Given the description of an element on the screen output the (x, y) to click on. 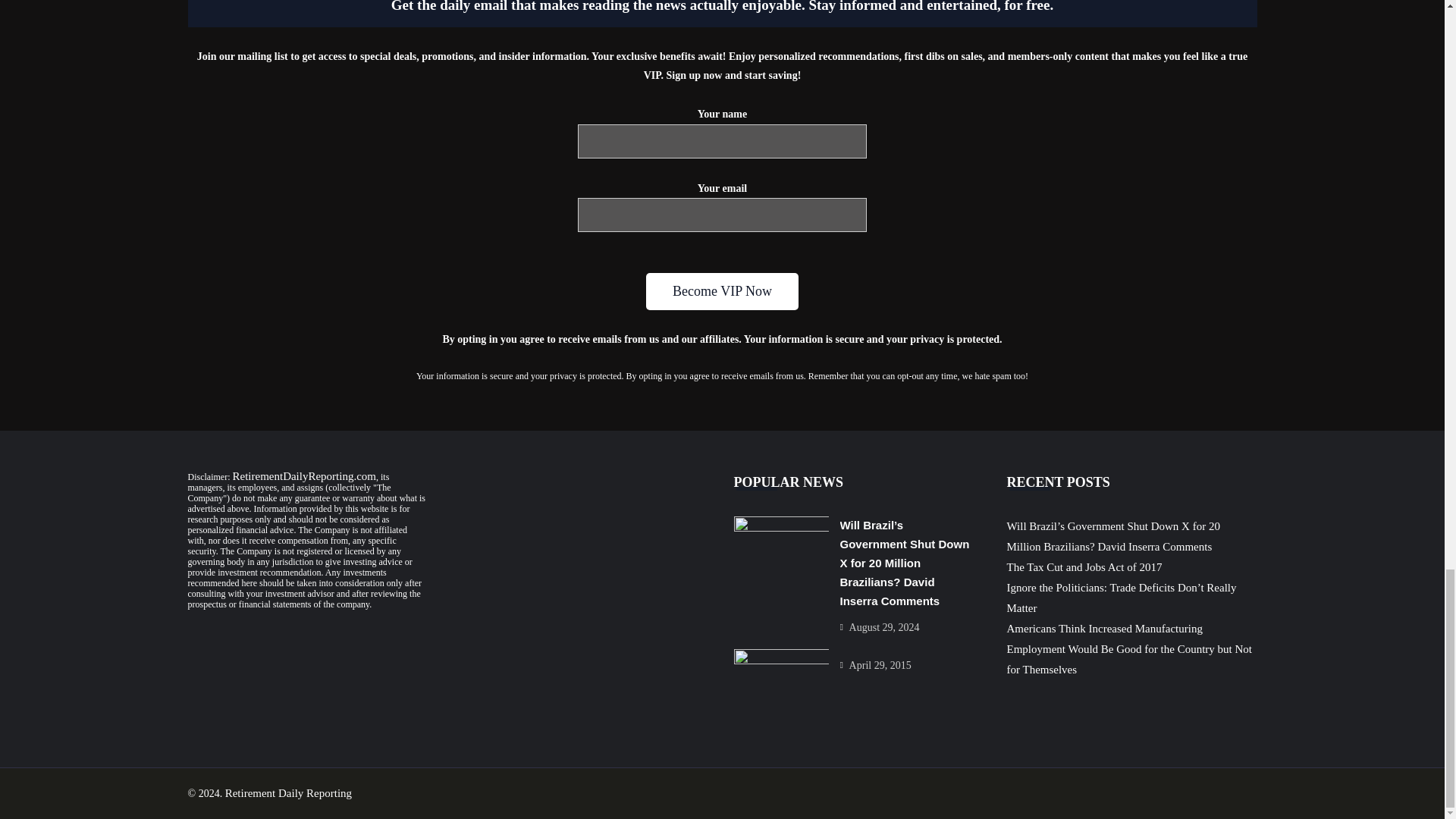
Become VIP Now (721, 291)
The Tax Cut and Jobs Act of 2017 (1084, 567)
Become VIP Now (721, 291)
RetirementDailyReporting.com (303, 476)
